Given the description of an element on the screen output the (x, y) to click on. 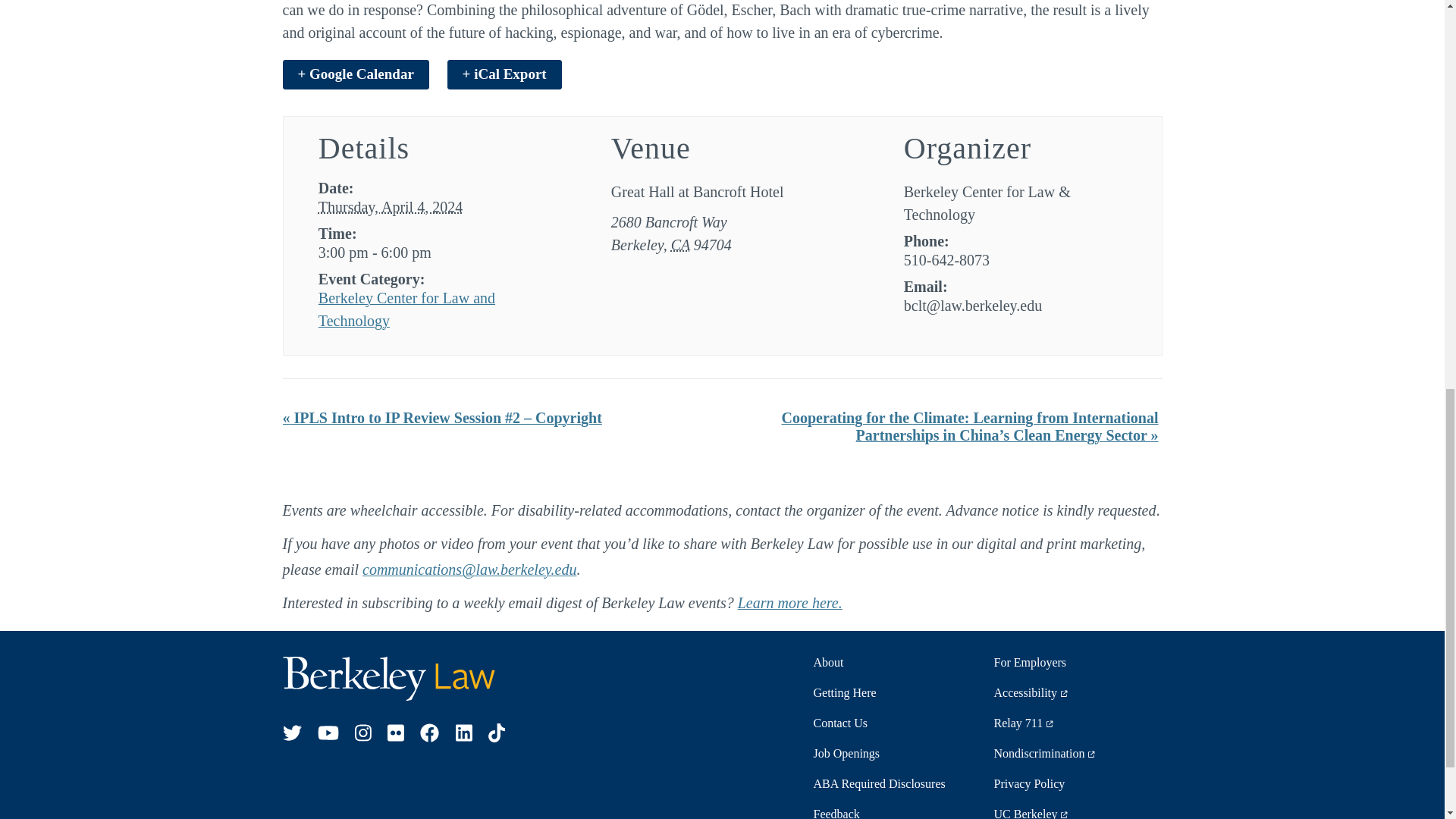
2024-04-04 (429, 251)
Download .ics file (504, 74)
Add to Google Calendar (355, 74)
2024-04-04 (390, 207)
California (680, 244)
